Given the description of an element on the screen output the (x, y) to click on. 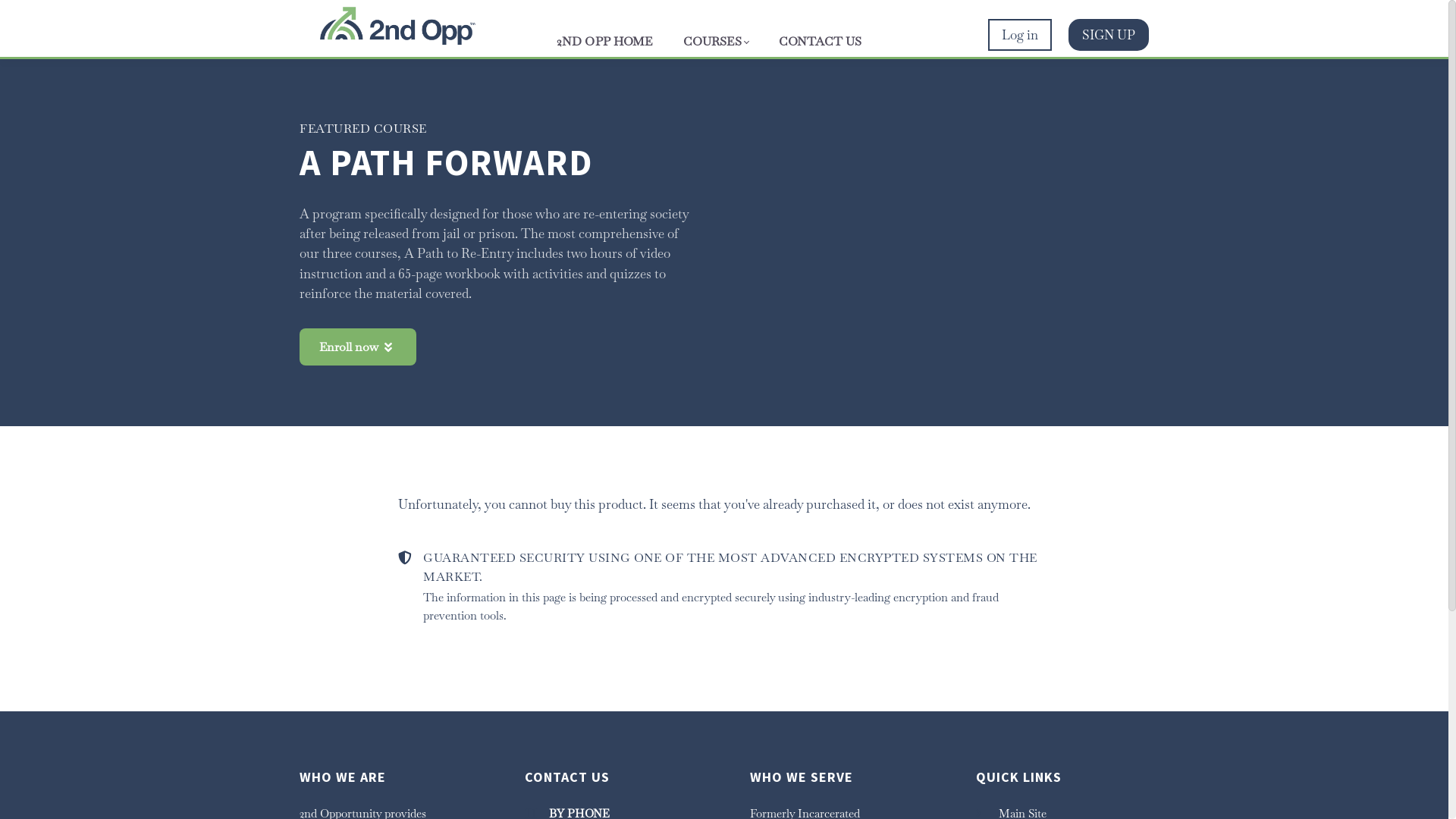
Log in Element type: text (1019, 34)
Enroll now Element type: text (357, 346)
2ND OPP HOME Element type: text (604, 41)
CONTACT US Element type: text (820, 41)
SIGN UP Element type: text (1108, 34)
